Given the description of an element on the screen output the (x, y) to click on. 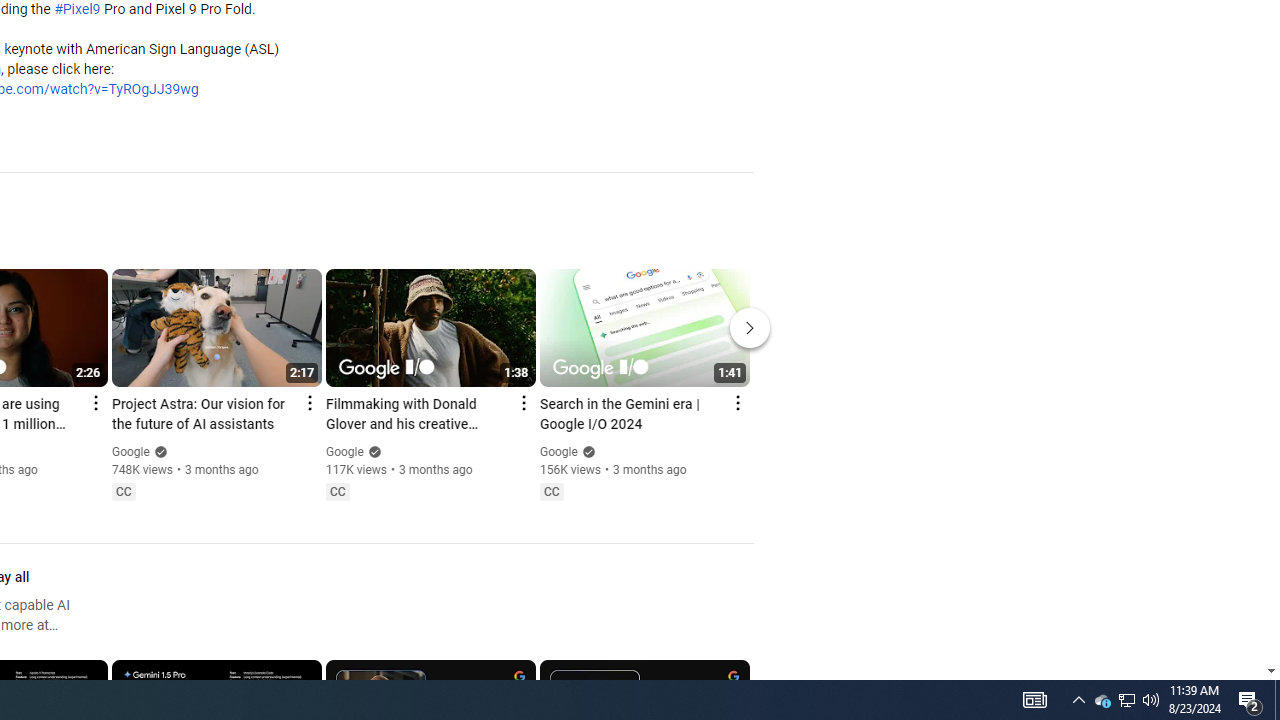
User Promoted Notification Area (1126, 699)
#Pixel9 (77, 10)
Closed captions (1126, 699)
Show desktop (1102, 699)
Q2790: 100% (551, 492)
Action Center, 2 new notifications (1277, 699)
Notification Chevron (1151, 699)
